Given the description of an element on the screen output the (x, y) to click on. 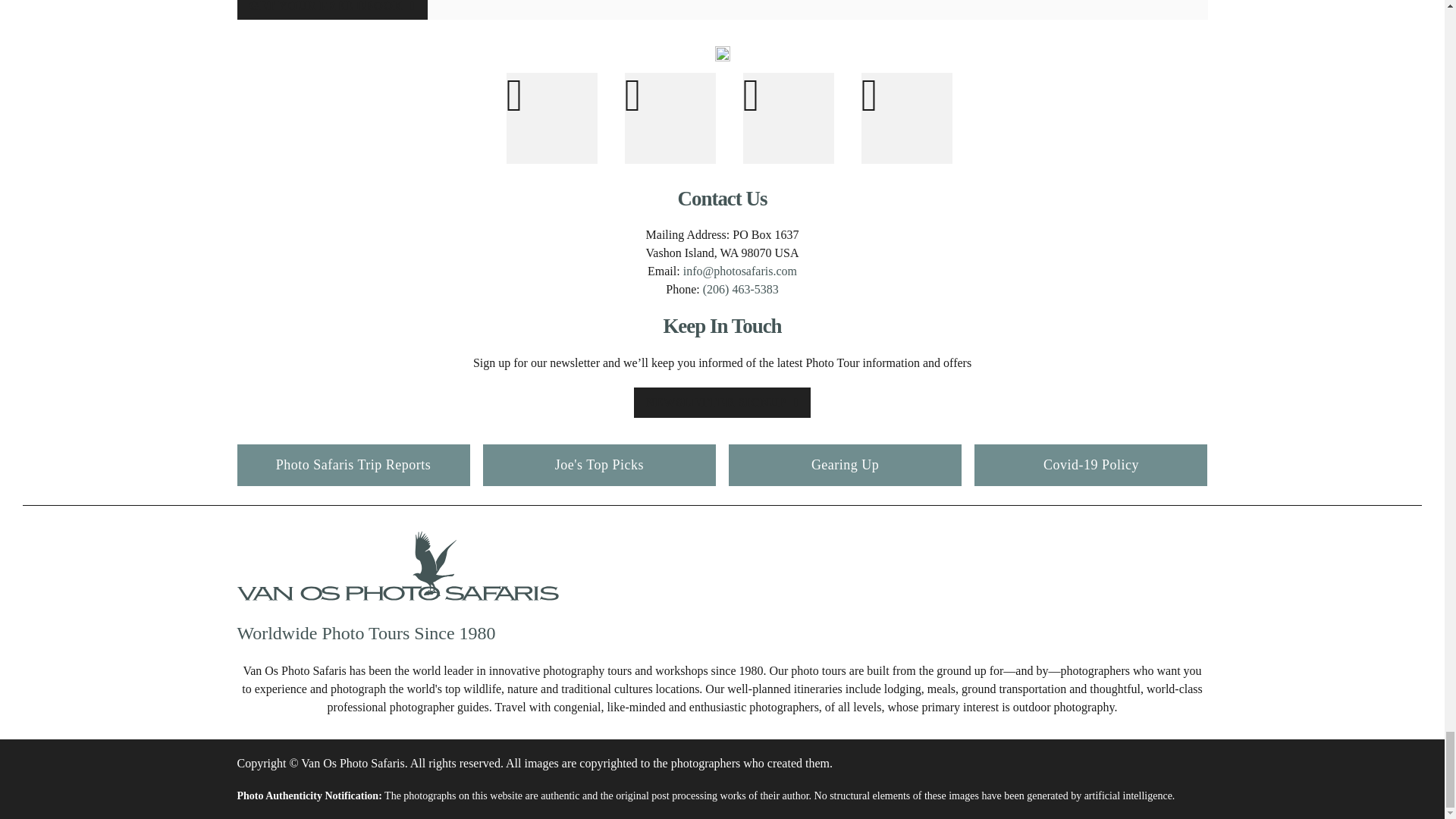
Facebook (551, 117)
YouTube (788, 117)
Instagram (670, 117)
LinkedIn (906, 117)
